Given the description of an element on the screen output the (x, y) to click on. 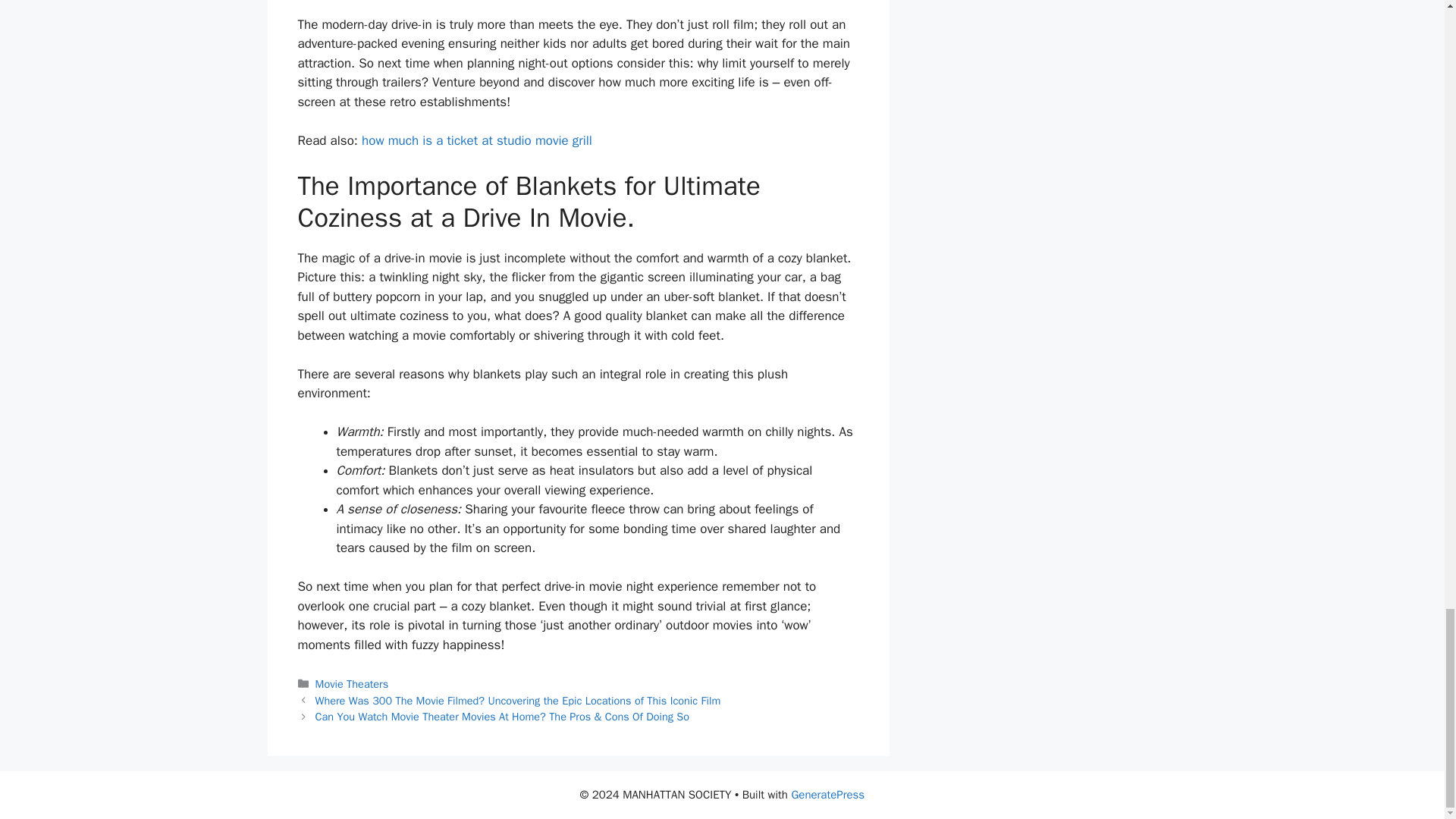
GeneratePress (827, 794)
how much is a ticket at studio movie grill (476, 140)
Movie Theaters (351, 684)
